Given the description of an element on the screen output the (x, y) to click on. 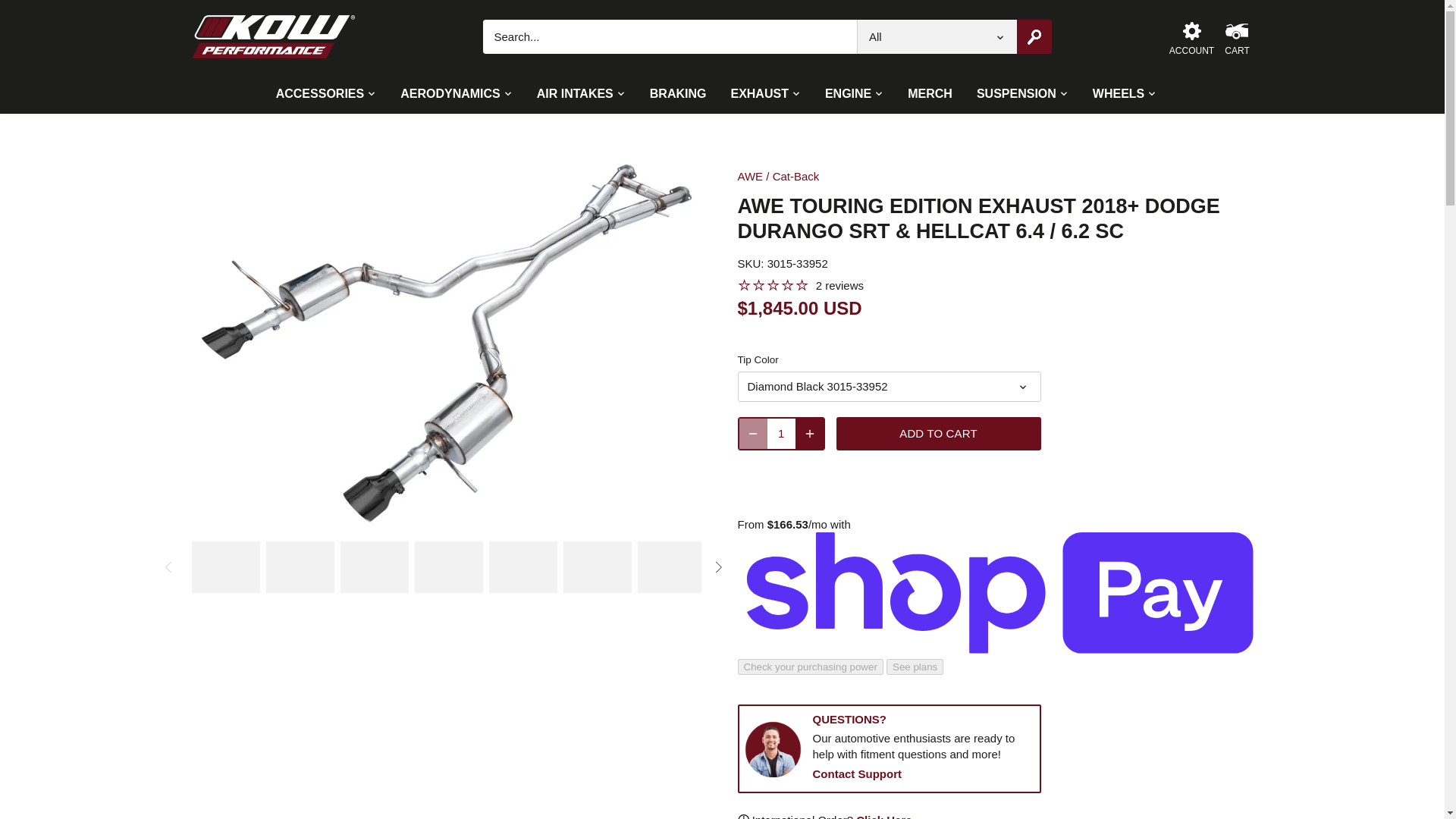
1 (781, 432)
Contact (857, 773)
AIR INTAKES (575, 93)
EXHAUST (758, 93)
BRAKING (678, 93)
MERCH (929, 93)
AERODYNAMICS (450, 93)
International Orders (883, 816)
WHEELS (1118, 93)
ENGINE (847, 93)
